Given the description of an element on the screen output the (x, y) to click on. 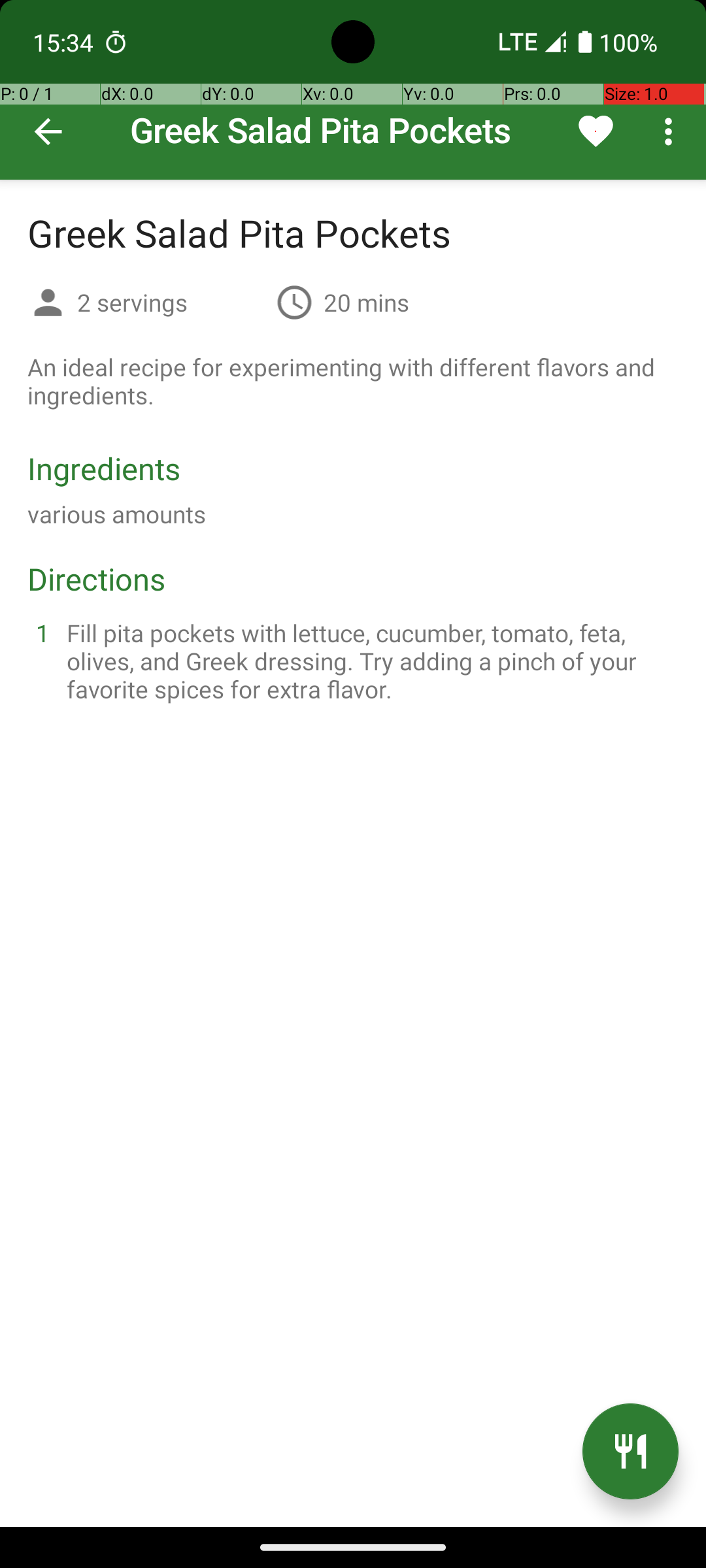
Fill pita pockets with lettuce, cucumber, tomato, feta, olives, and Greek dressing. Try adding a pinch of your favorite spices for extra flavor. Element type: android.widget.TextView (368, 660)
